Given the description of an element on the screen output the (x, y) to click on. 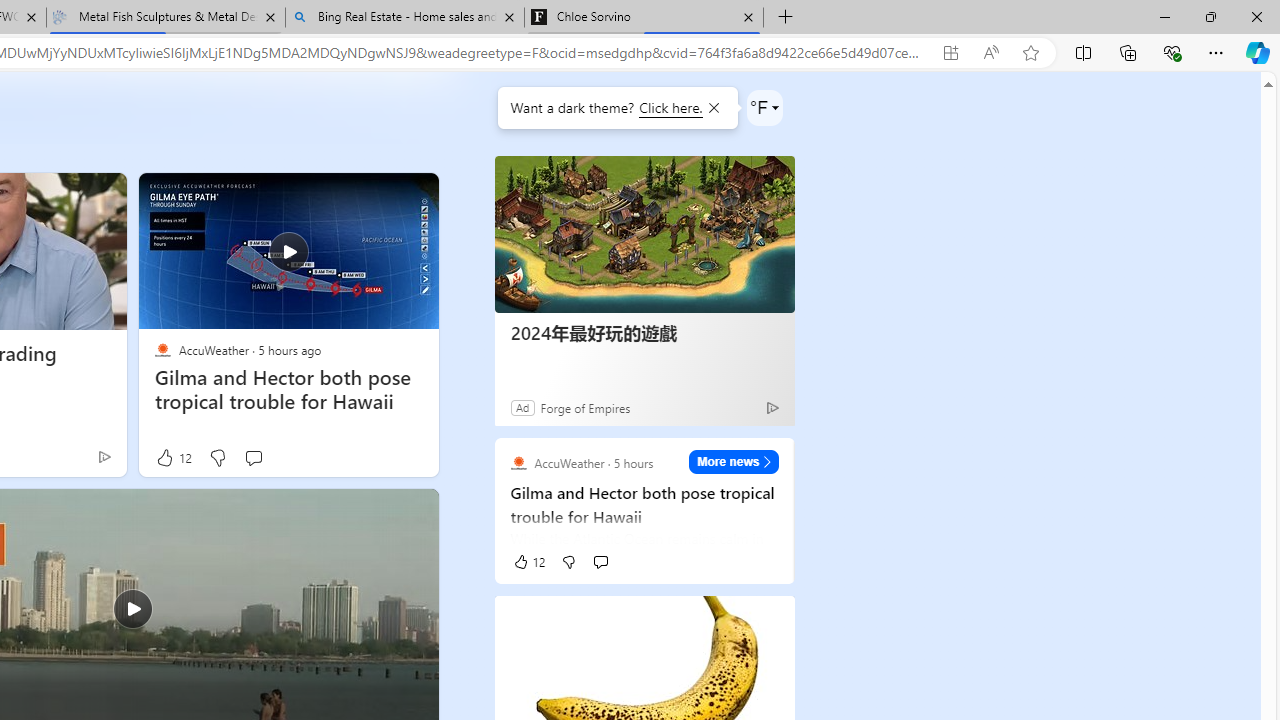
Forge of Empires (584, 407)
App available. Install Microsoft Start Weather (950, 53)
Weather settings (764, 107)
Gilma and Hector both pose tropical trouble for Hawaii (288, 250)
More news (733, 461)
